Given the description of an element on the screen output the (x, y) to click on. 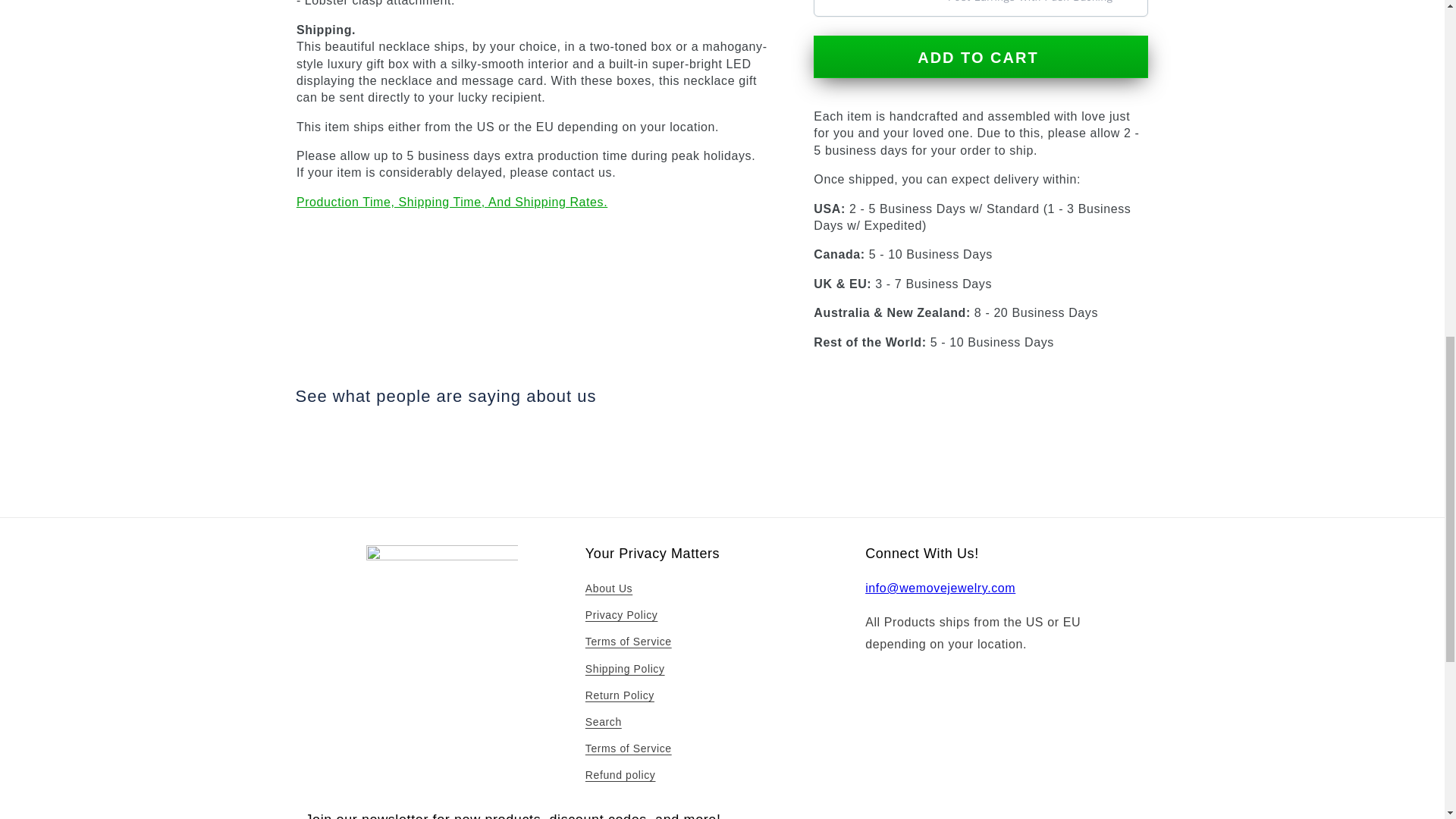
Terms of Service (628, 641)
Terms of Service (628, 748)
Production Time, Shipping Time, And Shipping Rates. (452, 201)
Return Policy (619, 695)
Contact (939, 587)
Shipping Policy (625, 669)
Search (603, 722)
Refund policy (620, 775)
ADD TO CART  (980, 56)
About Us (608, 590)
